Given the description of an element on the screen output the (x, y) to click on. 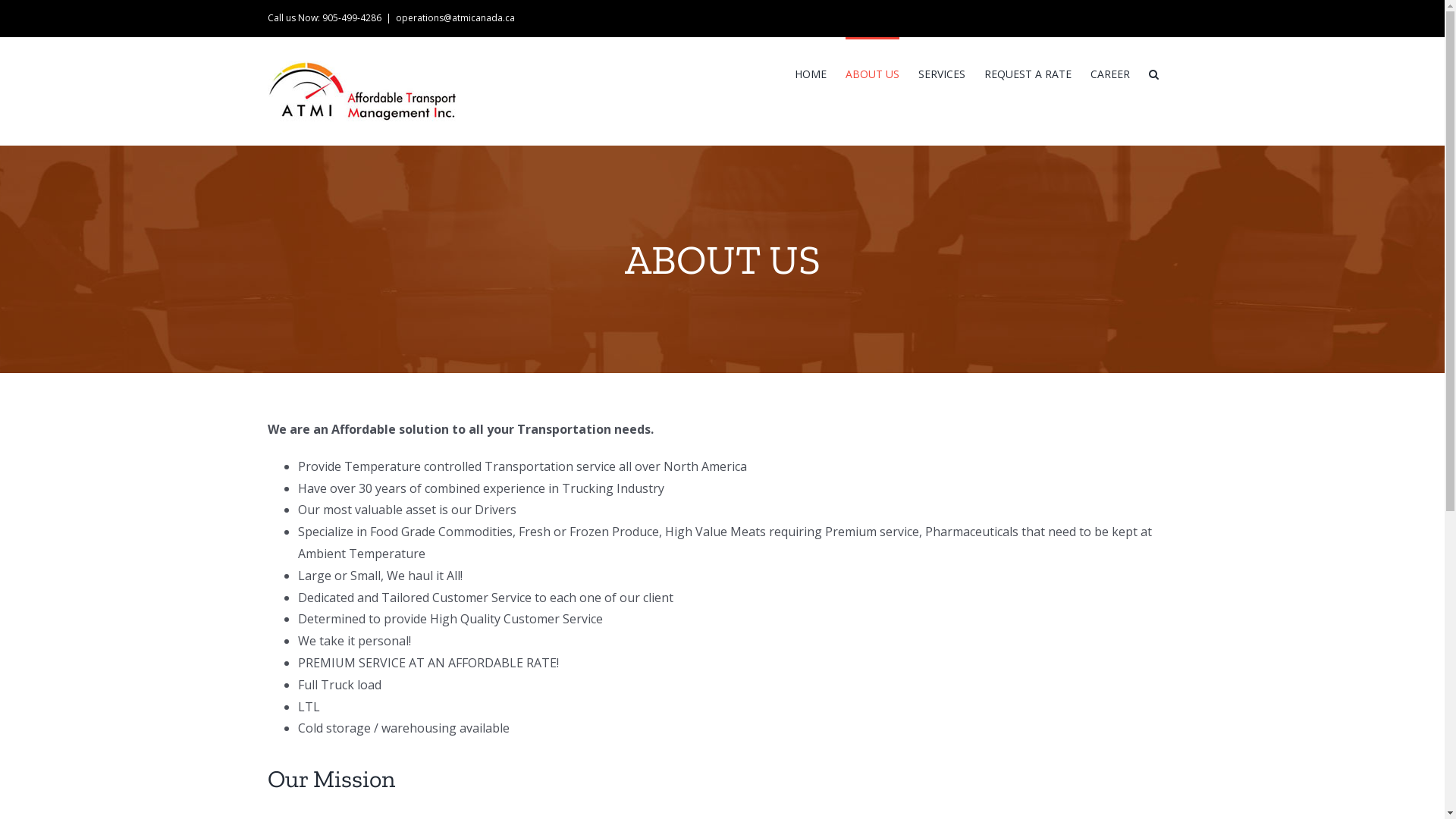
ABOUT US Element type: text (871, 72)
HOME Element type: text (810, 72)
operations@atmicanada.ca Element type: text (454, 17)
CAREER Element type: text (1109, 72)
Search Element type: hover (1152, 72)
SERVICES Element type: text (940, 72)
REQUEST A RATE Element type: text (1027, 72)
